Given the description of an element on the screen output the (x, y) to click on. 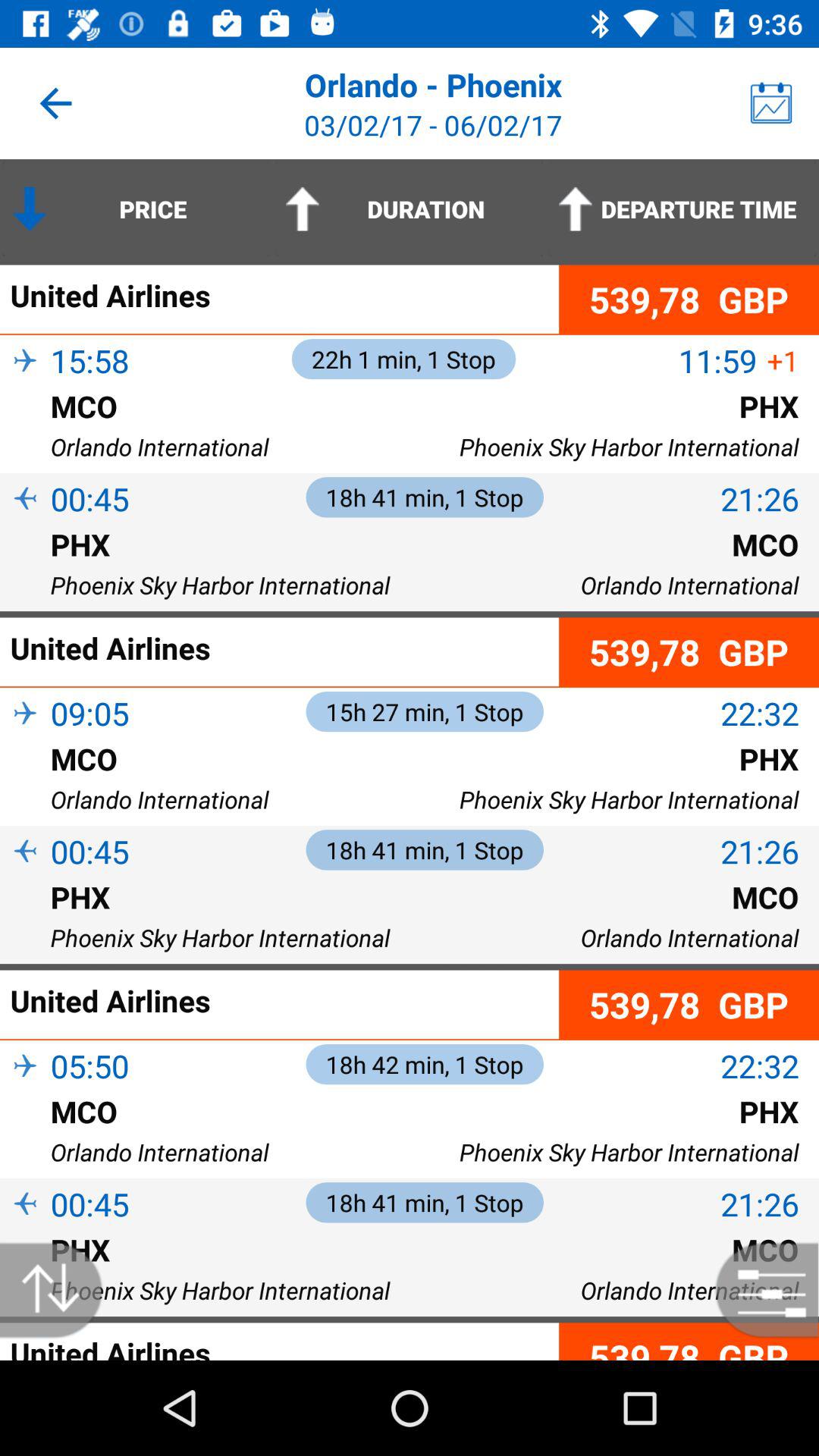
tap the price (136, 208)
